Given the description of an element on the screen output the (x, y) to click on. 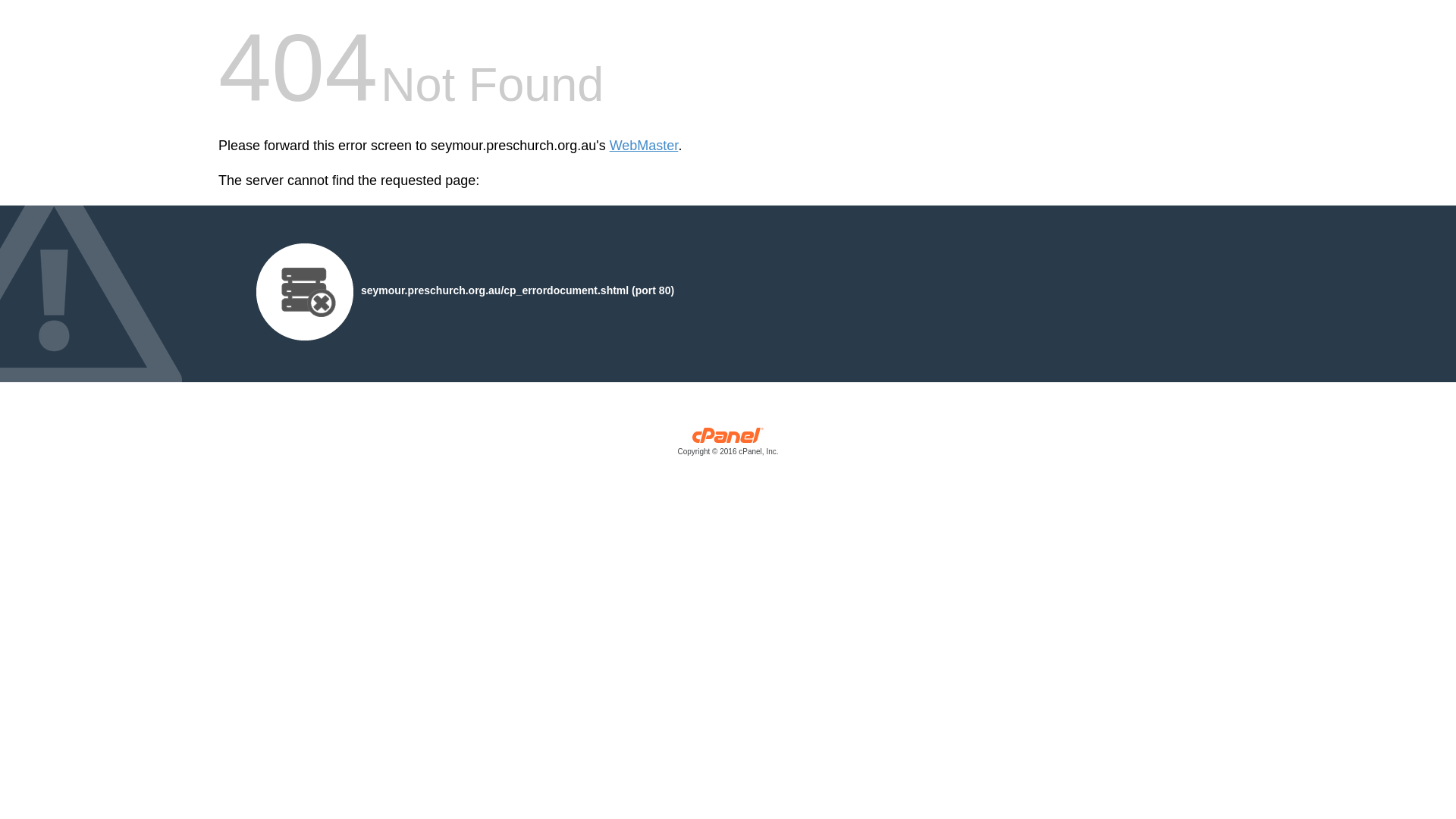
WebMaster Element type: text (643, 145)
